Given the description of an element on the screen output the (x, y) to click on. 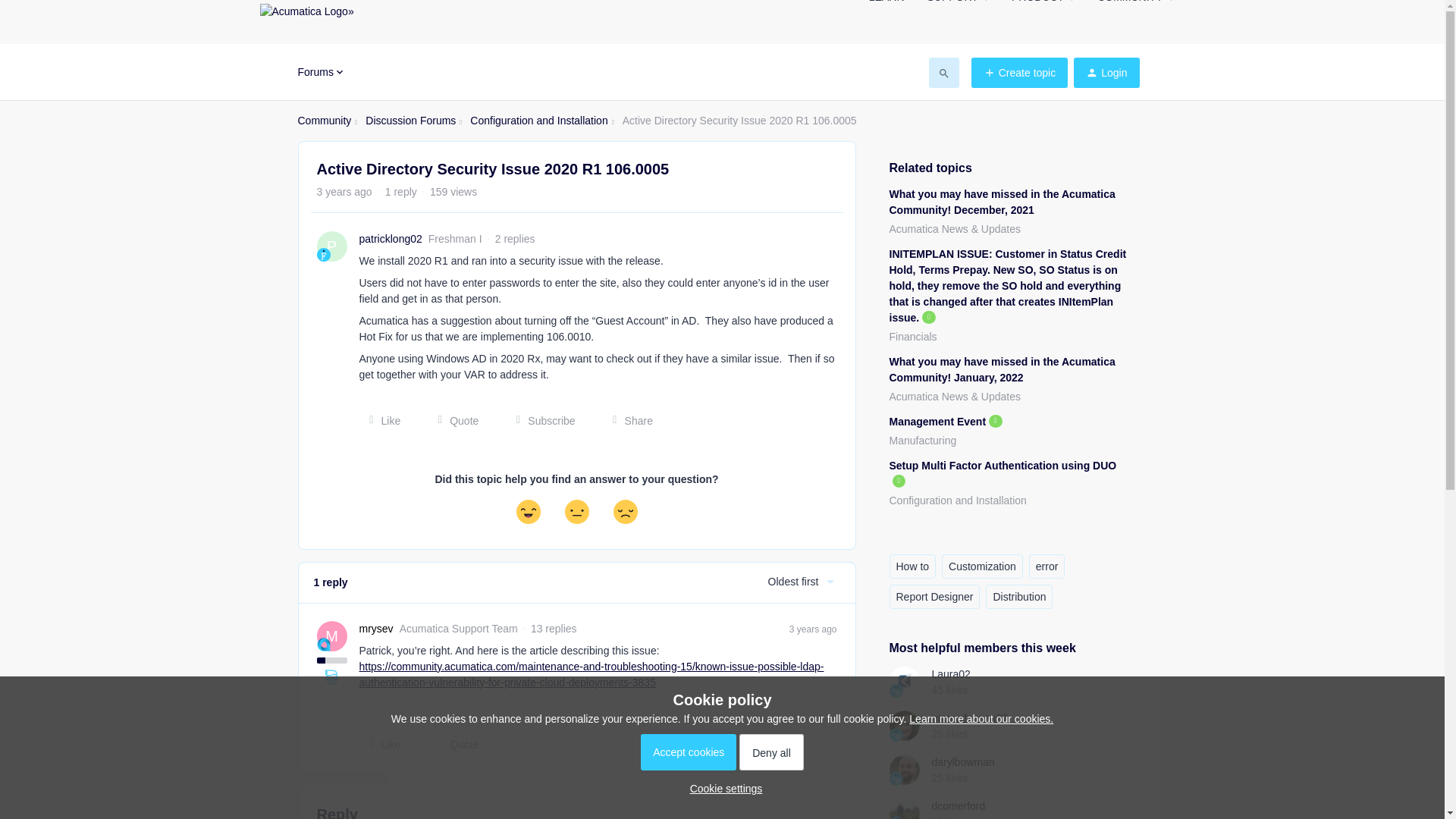
PRODUCT (1042, 6)
COMMUNITY (1135, 6)
Forums (321, 71)
LEARN (886, 6)
SUPPORT (957, 6)
